Given the description of an element on the screen output the (x, y) to click on. 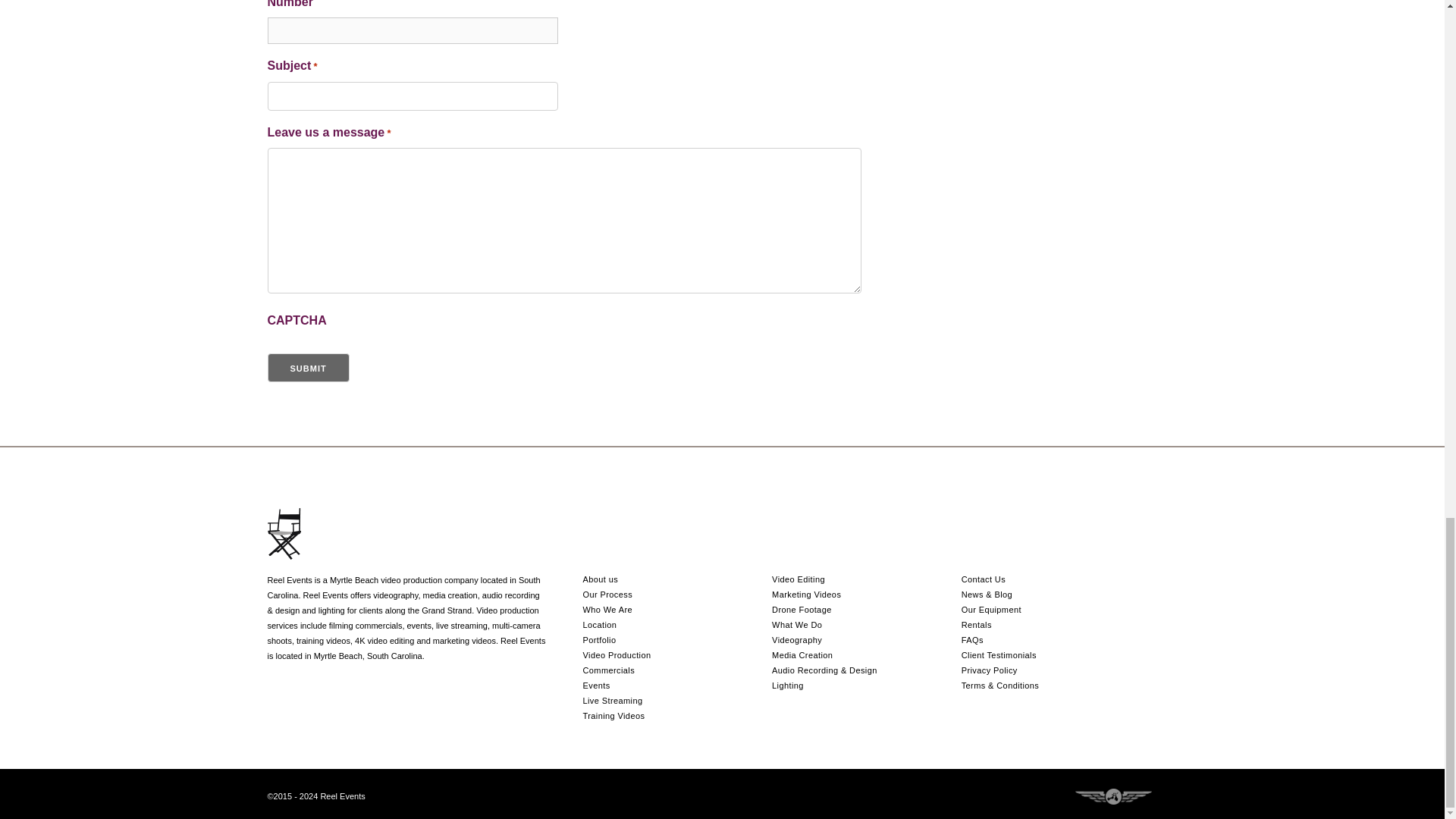
Portfolio (598, 639)
Myrtle Beach Video Production (616, 655)
Myrtle Beach Location (598, 624)
Live Streaming (612, 700)
Events (596, 685)
Video Production Process (606, 593)
Video Editing (798, 578)
Training Videos (613, 715)
Commercials (608, 669)
About Reel Events (599, 578)
Reel Events (606, 609)
Marketing Videos (806, 593)
Submit (307, 367)
Drone Footage (801, 609)
